Given the description of an element on the screen output the (x, y) to click on. 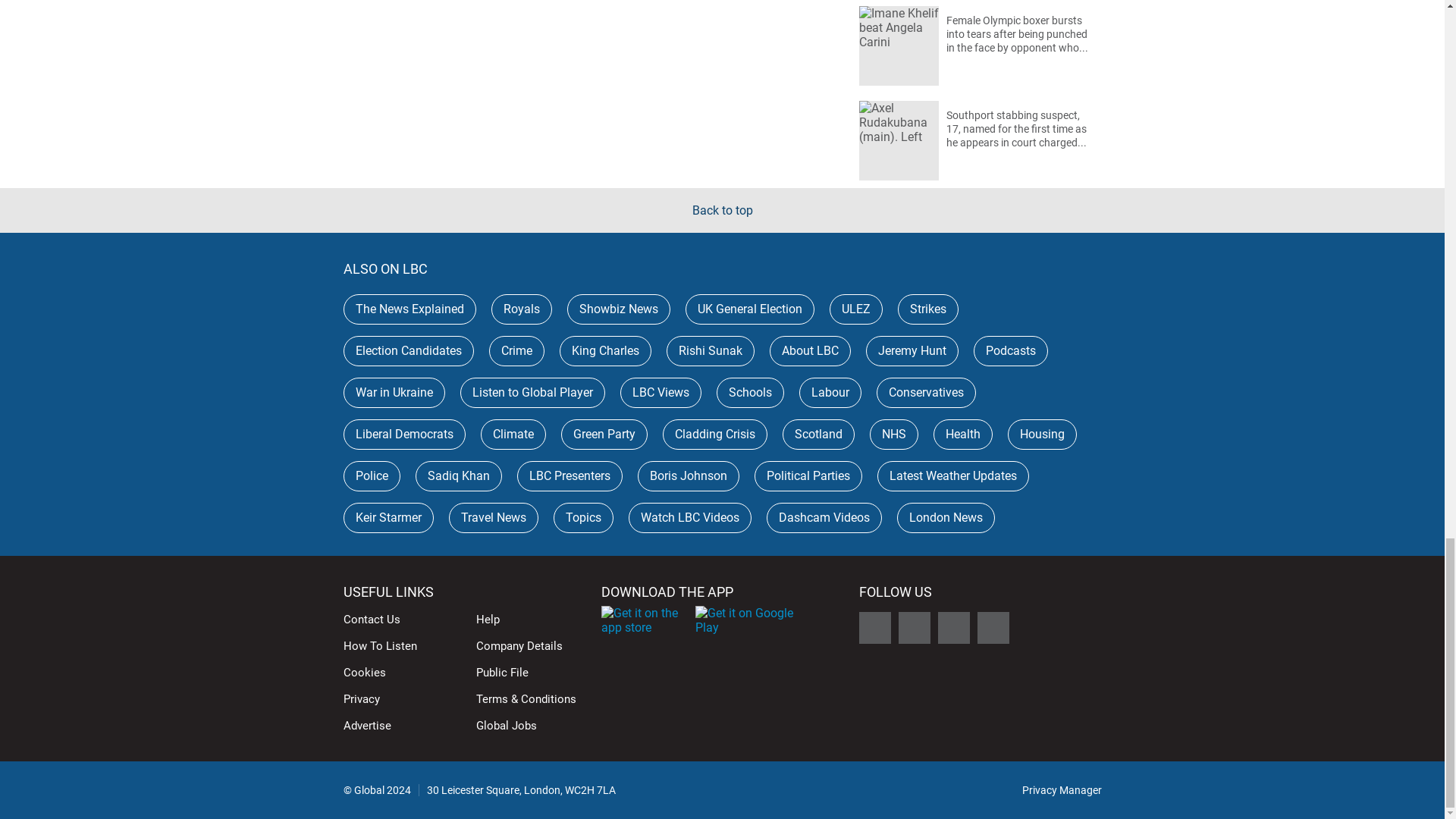
Follow LBC on Youtube (992, 627)
Follow LBC on Instagram (953, 627)
Follow LBC on X (874, 627)
Follow LBC on Facebook (914, 627)
Back to top (721, 210)
